Given the description of an element on the screen output the (x, y) to click on. 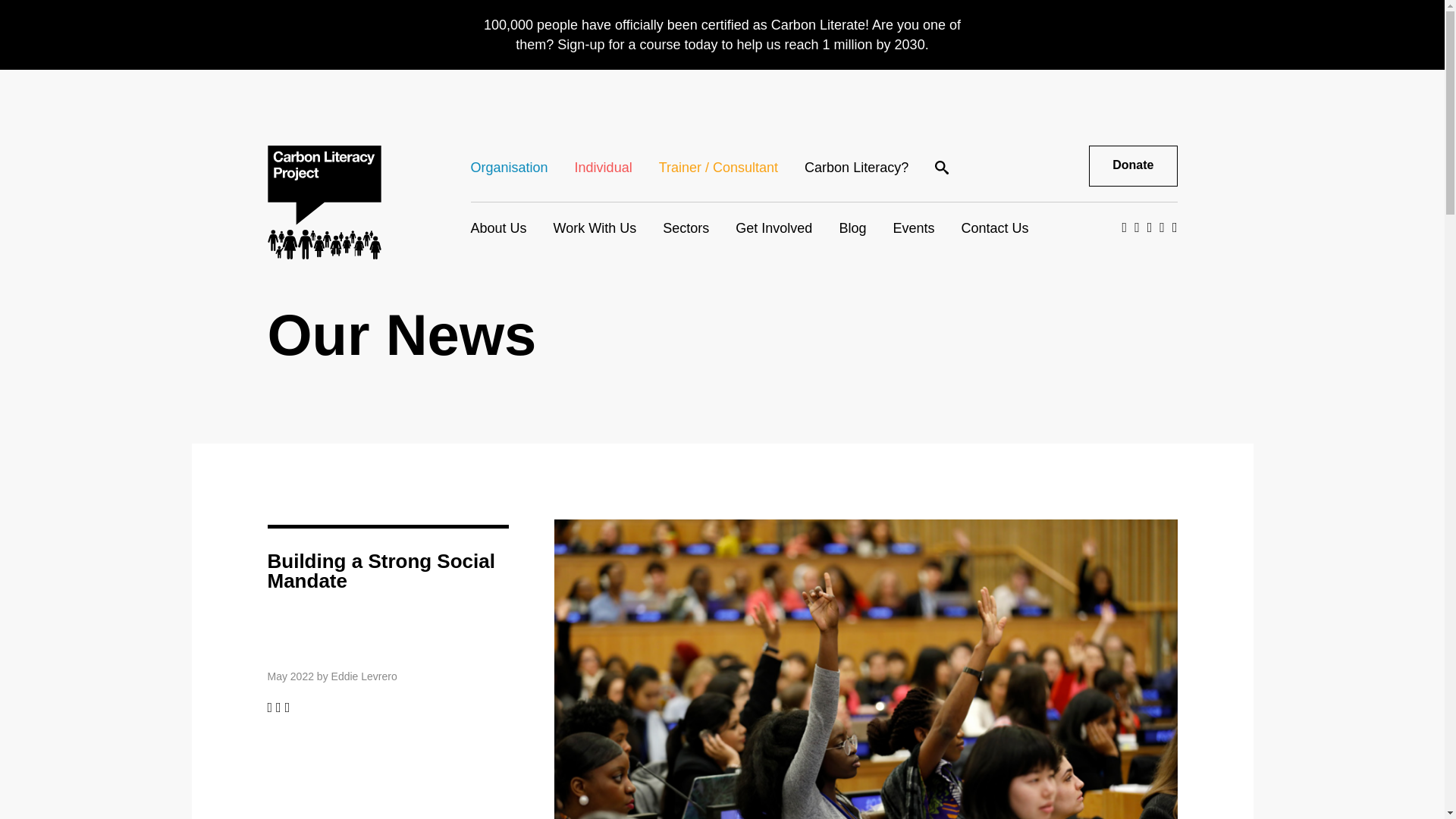
Individual (603, 167)
Donate (1132, 165)
Carbon Literacy? (856, 167)
About Us (498, 227)
Contact Us (993, 227)
Events (913, 227)
Organisation (509, 167)
Work With Us (595, 227)
Blog (852, 227)
Sectors (685, 227)
Get Involved (773, 227)
